Given the description of an element on the screen output the (x, y) to click on. 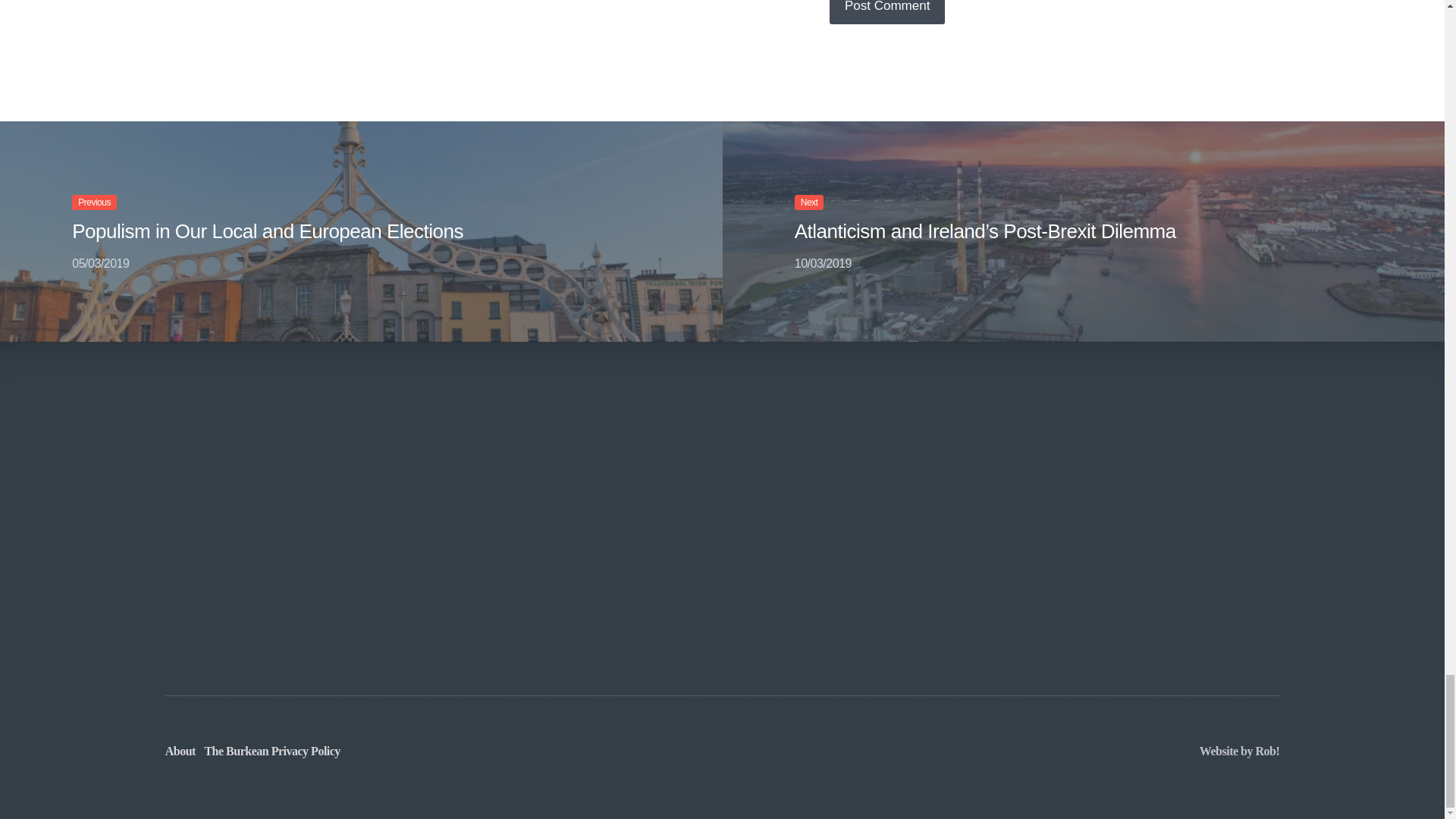
Post Comment (886, 12)
